Given the description of an element on the screen output the (x, y) to click on. 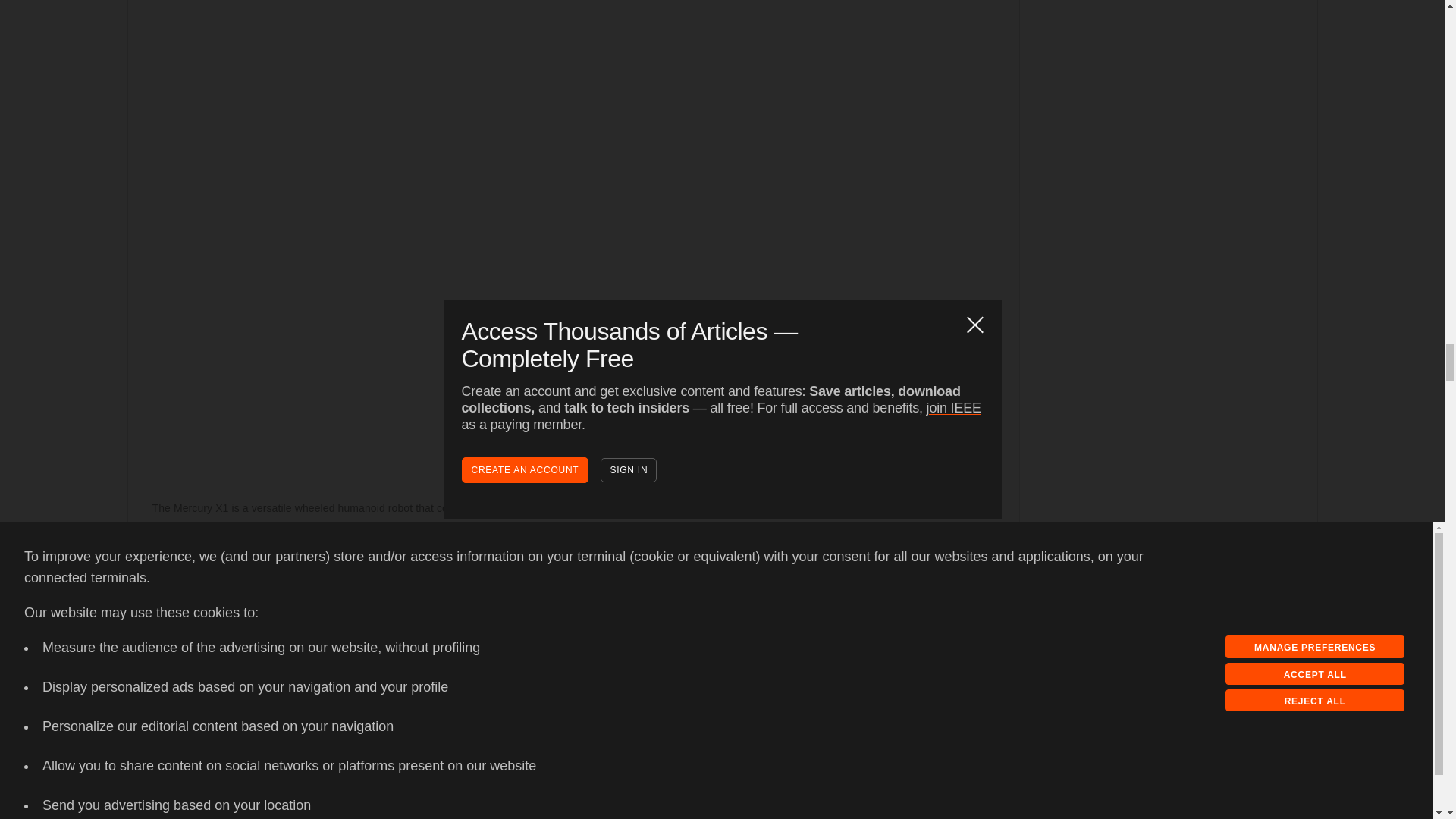
Copy this link to clipboard (192, 582)
